Given the description of an element on the screen output the (x, y) to click on. 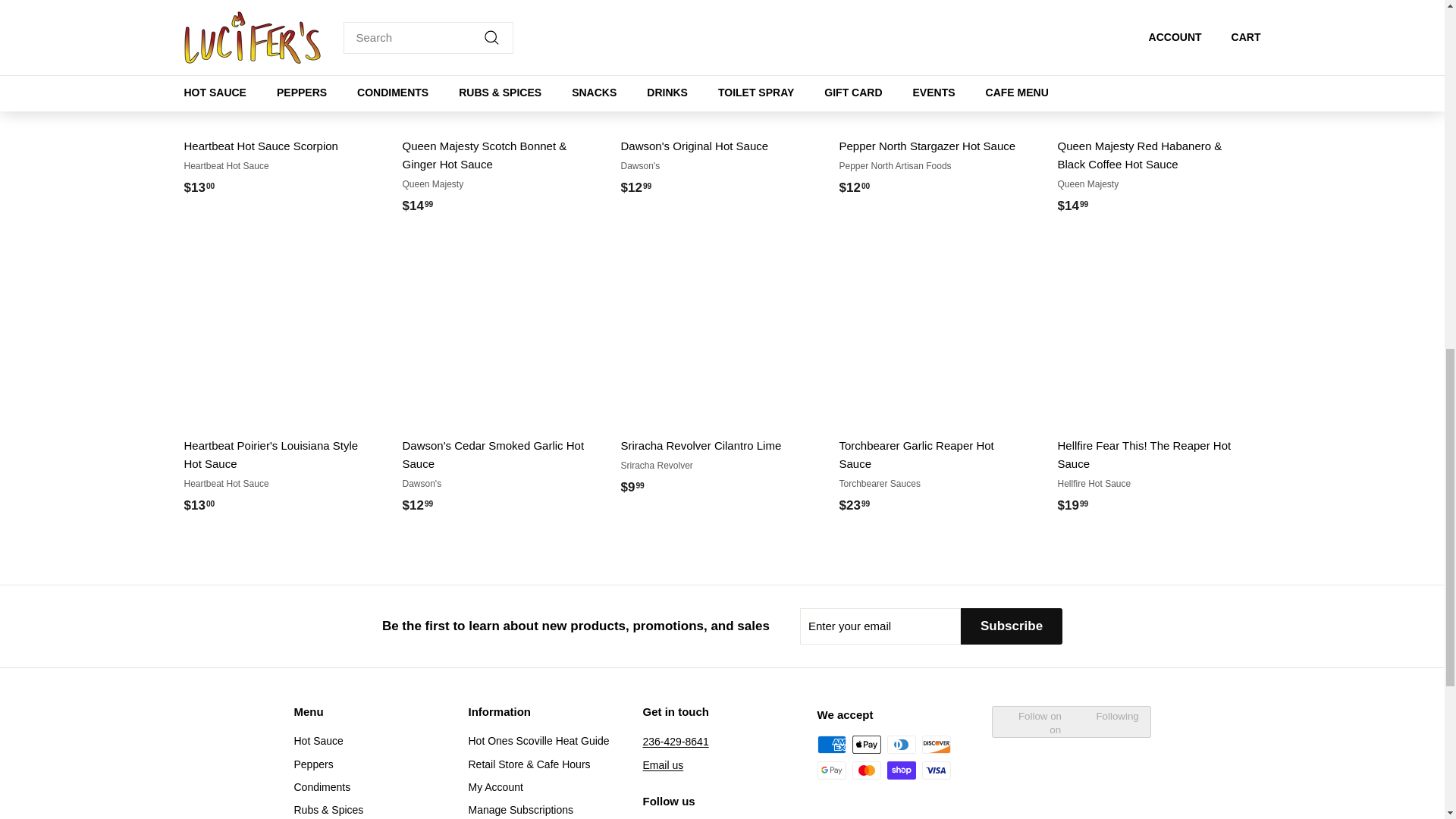
Shop Pay (900, 770)
Visa (935, 770)
Discover (935, 744)
Diners Club (900, 744)
American Express (830, 744)
Google Pay (830, 770)
Apple Pay (865, 744)
Mastercard (865, 770)
